Given the description of an element on the screen output the (x, y) to click on. 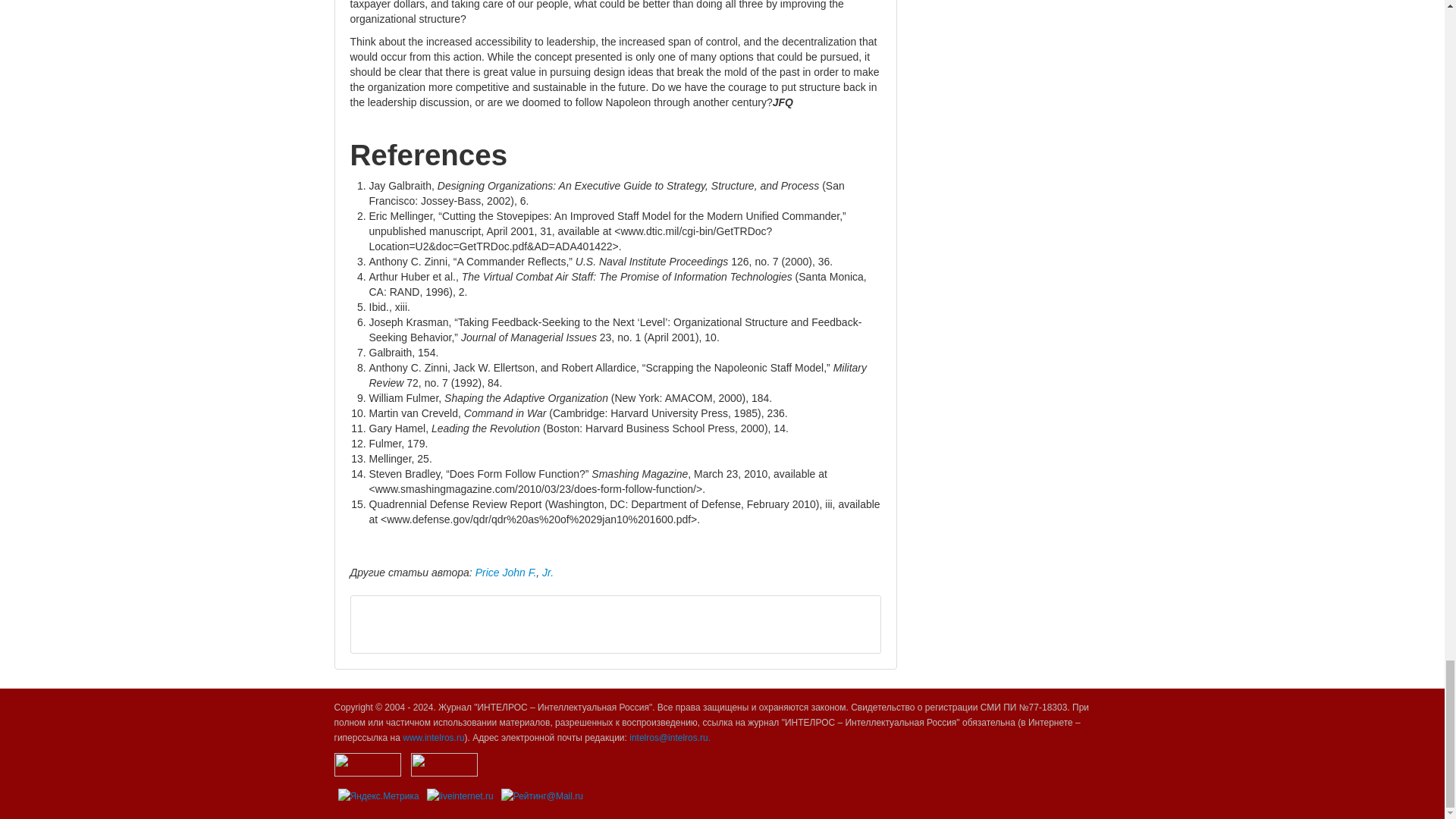
Price John F. (506, 572)
Jr. (547, 572)
